Given the description of an element on the screen output the (x, y) to click on. 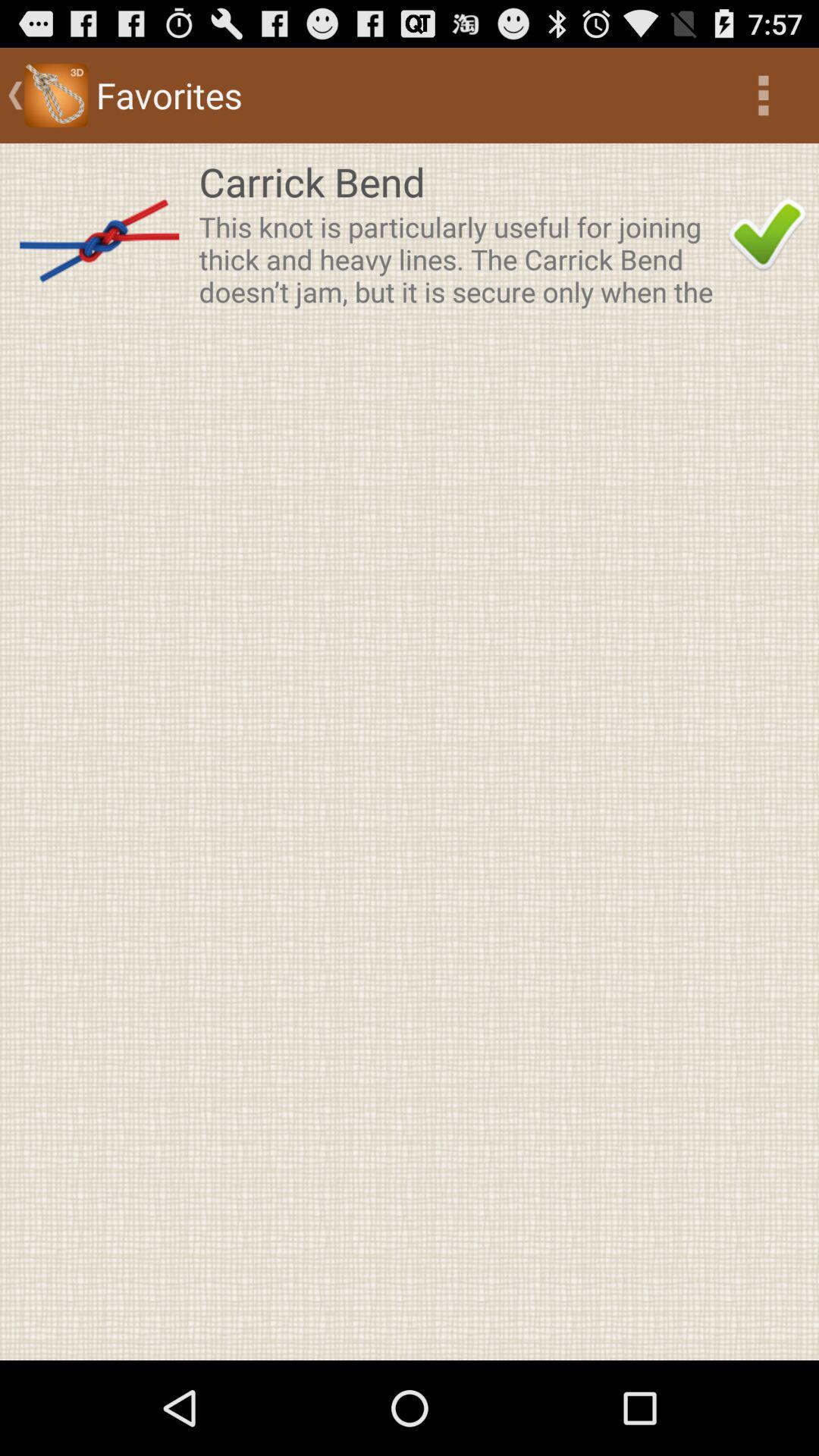
turn on the icon to the right of favorites (763, 95)
